Given the description of an element on the screen output the (x, y) to click on. 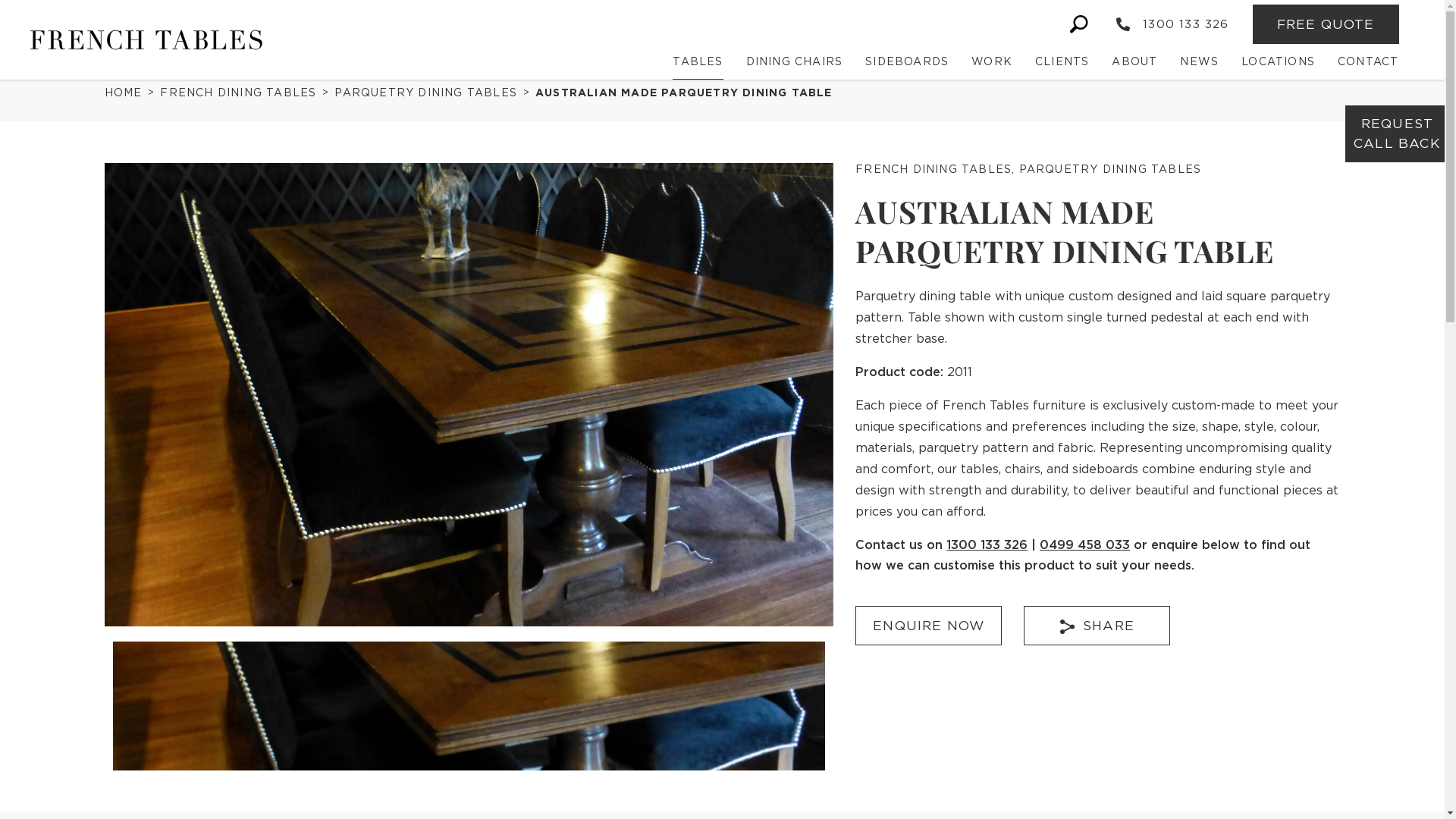
ENQUIRE NOW Element type: text (928, 624)
PARQUETRY DINING TABLES Element type: text (430, 92)
Submit Element type: text (804, 584)
NEWS Element type: text (1198, 61)
CLIENTS Element type: text (1061, 61)
FREE QUOTE Element type: text (1325, 23)
DINING CHAIRS Element type: text (794, 61)
TABLES Element type: text (697, 61)
FRENCH DINING TABLES Element type: text (242, 92)
WORK Element type: text (991, 61)
HOME Element type: text (127, 92)
Submit Element type: text (804, 625)
FRENCH DINING TABLES Element type: text (933, 168)
LOCATIONS Element type: text (1277, 61)
1300 133 326 Element type: text (1172, 24)
REQUEST
CALL BACK Element type: text (1397, 133)
CONTACT Element type: text (1367, 61)
PARQUETRY DINING TABLES Element type: text (1110, 168)
1300 133 326 Element type: text (986, 543)
ABOUT Element type: text (1134, 61)
SHARE Element type: text (1096, 624)
0499 458 033 Element type: text (1084, 543)
SIDEBOARDS Element type: text (906, 61)
